Given the description of an element on the screen output the (x, y) to click on. 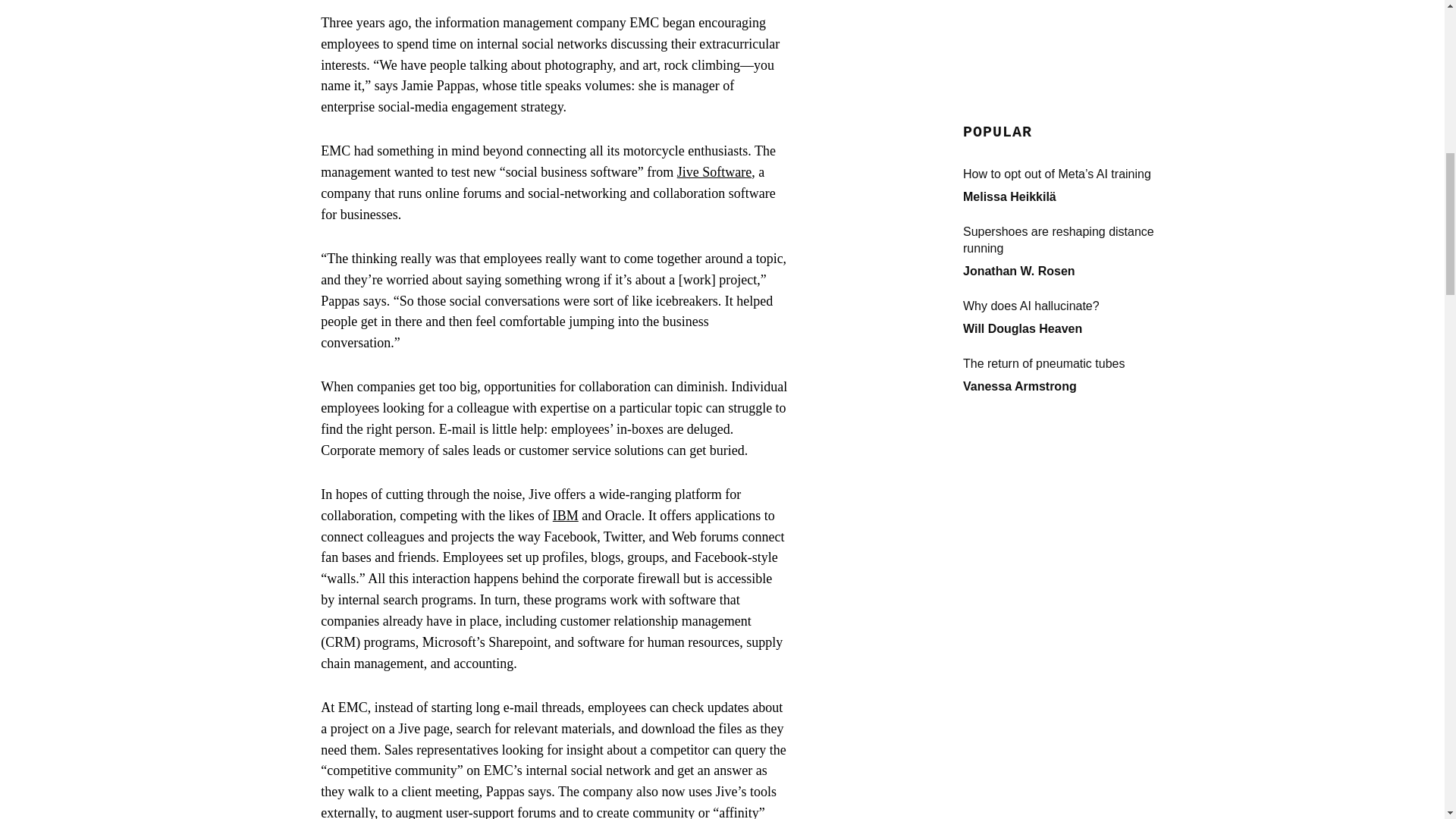
IBM (565, 515)
The return of pneumatic tubes (1075, 32)
Jive Software (714, 171)
Will Douglas Heaven (1021, 2)
Vanessa Armstrong (1019, 54)
